Given the description of an element on the screen output the (x, y) to click on. 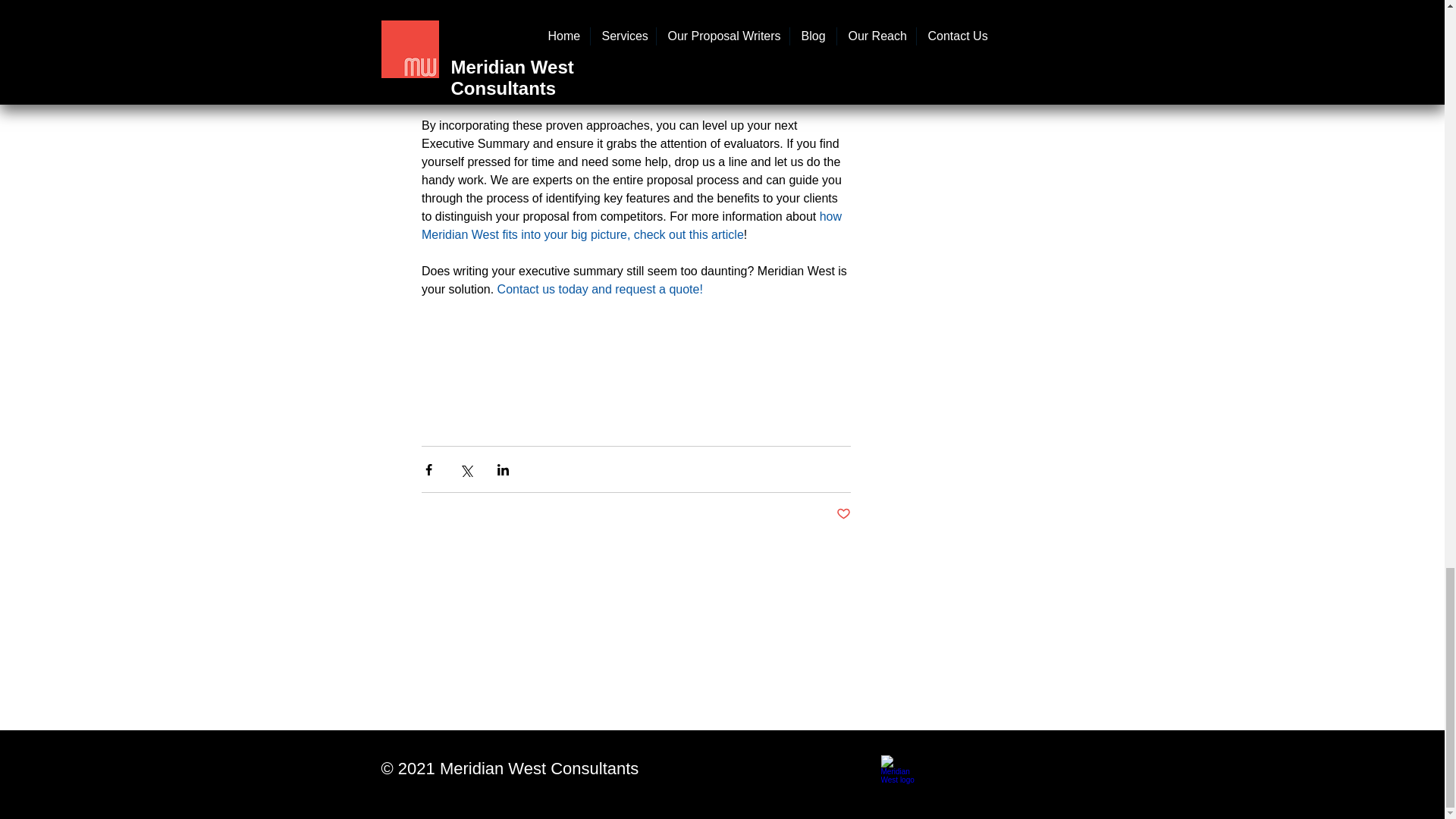
Contact us today and request a quote! (598, 288)
Post not marked as liked (842, 514)
